Given the description of an element on the screen output the (x, y) to click on. 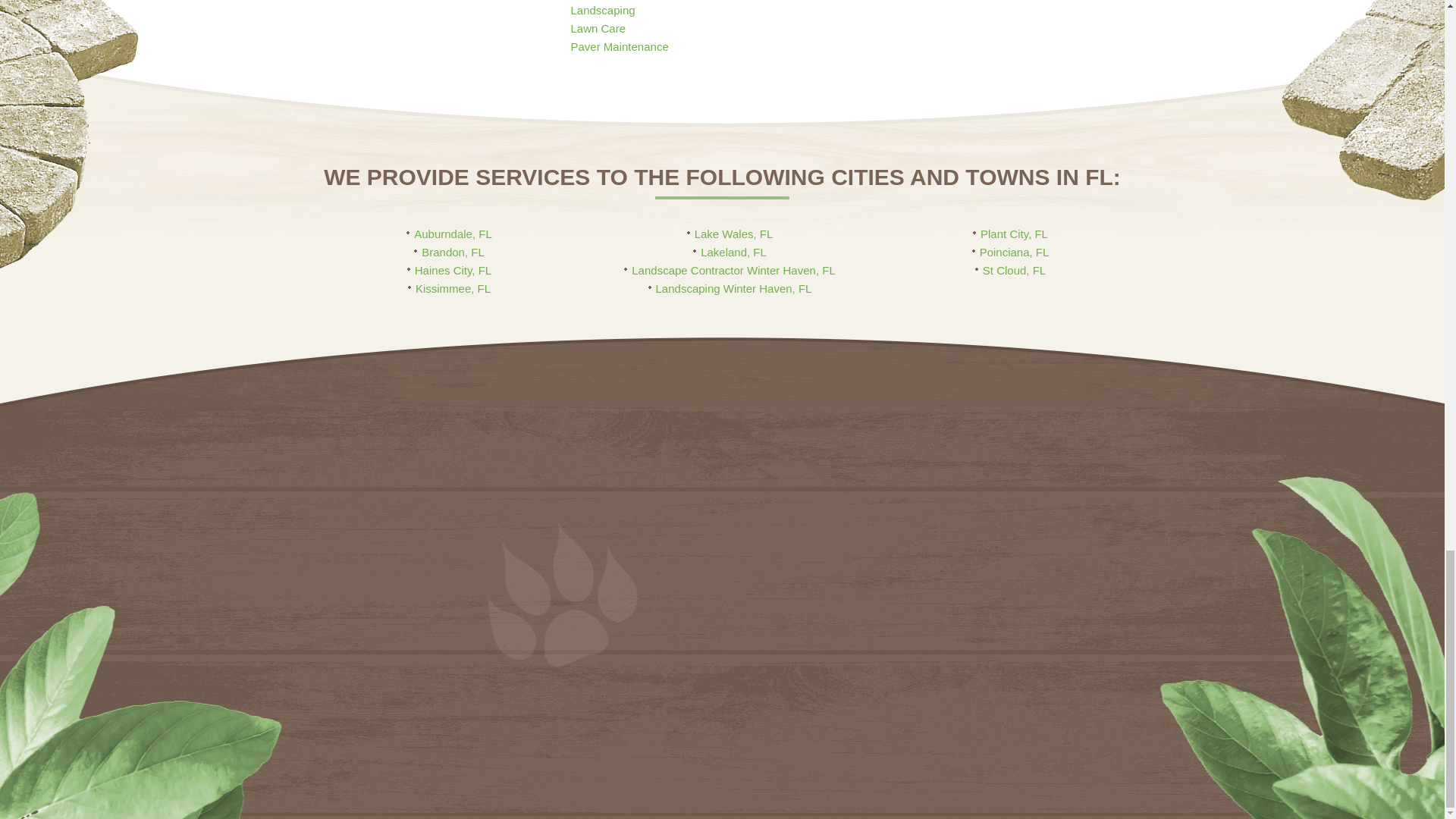
Haines City, FL (449, 269)
 submit  (934, 755)
Landscaping (602, 10)
Poinciana, FL (1010, 251)
Landscaping Winter Haven, FL (729, 287)
Brandon, FL (448, 251)
Landscape Contractor Winter Haven, FL (729, 269)
Plant City, FL (1010, 233)
Lakeland, FL (730, 251)
Auburndale, FL (449, 233)
Lake Wales, FL (730, 233)
St Cloud, FL (1010, 269)
Lawn Care (598, 28)
Paver Maintenance (619, 46)
Kissimmee, FL (448, 287)
